Given the description of an element on the screen output the (x, y) to click on. 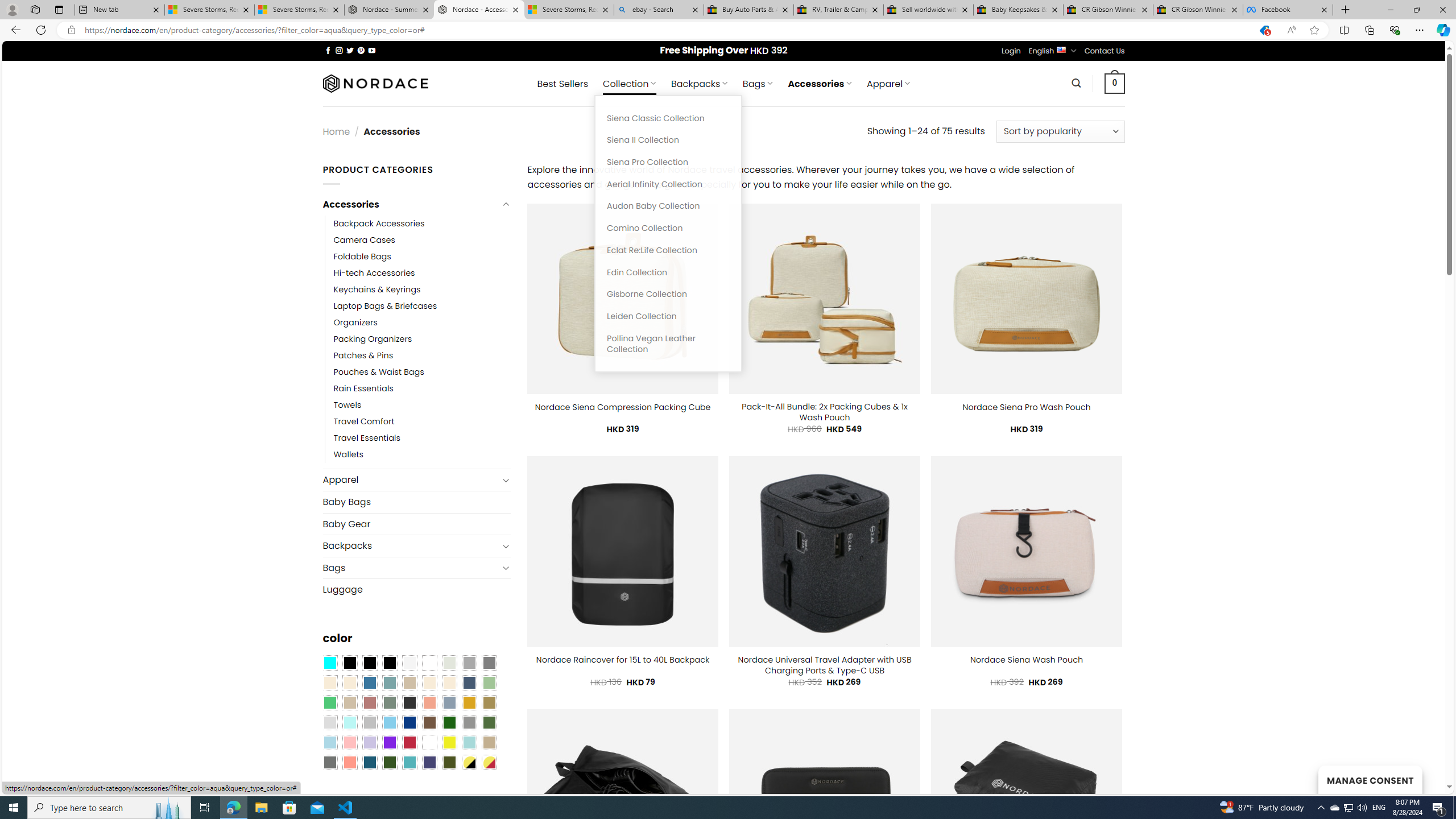
Rose (369, 702)
Emerald Green (329, 702)
Foldable Bags (362, 256)
Baby Gear (416, 523)
Sky Blue (389, 721)
Purple (389, 741)
Audon Baby Collection (668, 205)
Aerial Infinity Collection (668, 183)
Dark Gray (468, 662)
Cream (449, 681)
